Given the description of an element on the screen output the (x, y) to click on. 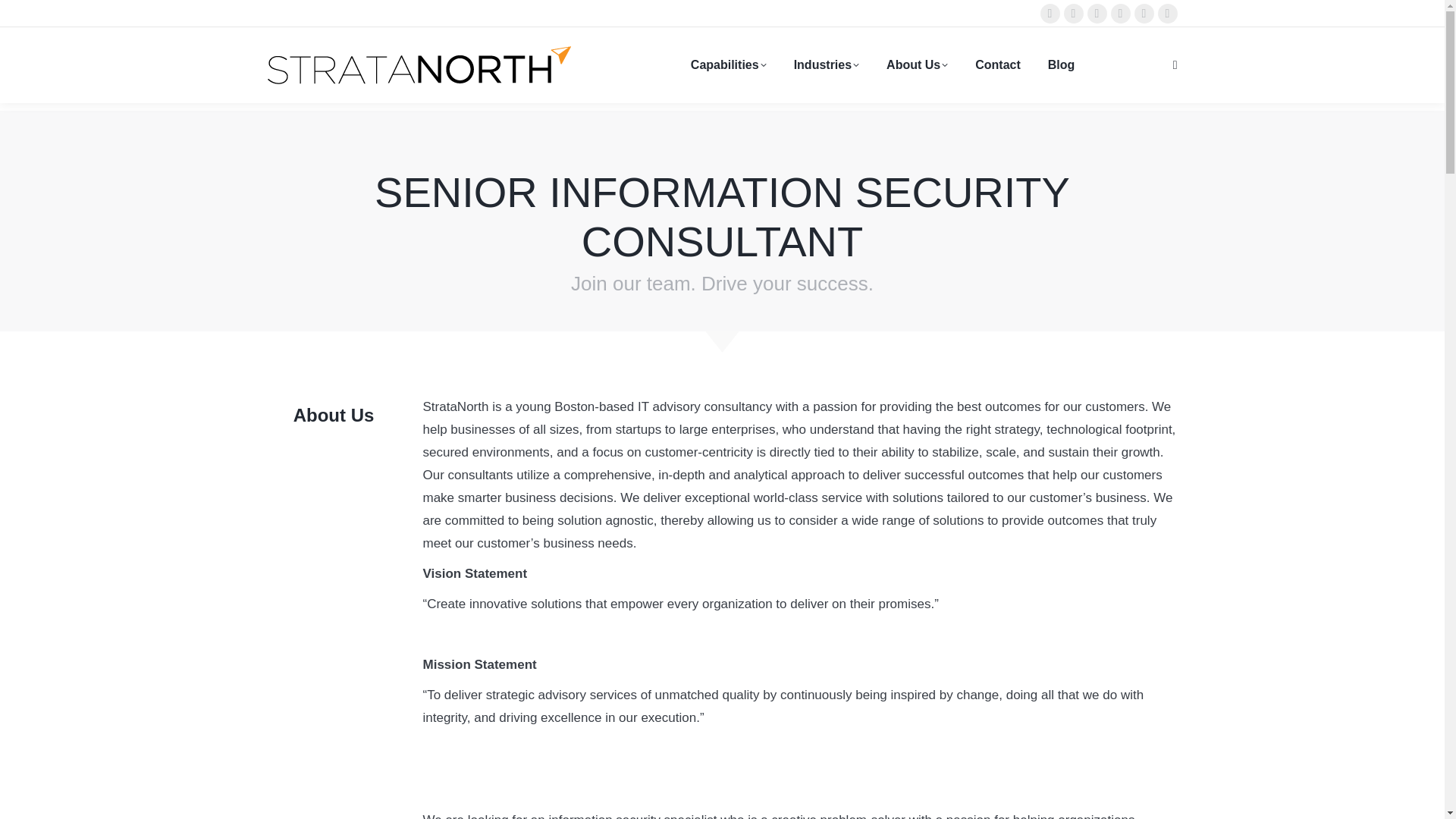
Website page opens in new window (1119, 13)
Linkedin page opens in new window (1050, 13)
Facebook page opens in new window (1072, 13)
X page opens in new window (1166, 13)
Blogger page opens in new window (1144, 13)
Reddit page opens in new window (1096, 13)
Facebook page opens in new window (1072, 13)
Capabilities (728, 64)
X page opens in new window (1166, 13)
Reddit page opens in new window (1096, 13)
